Given the description of an element on the screen output the (x, y) to click on. 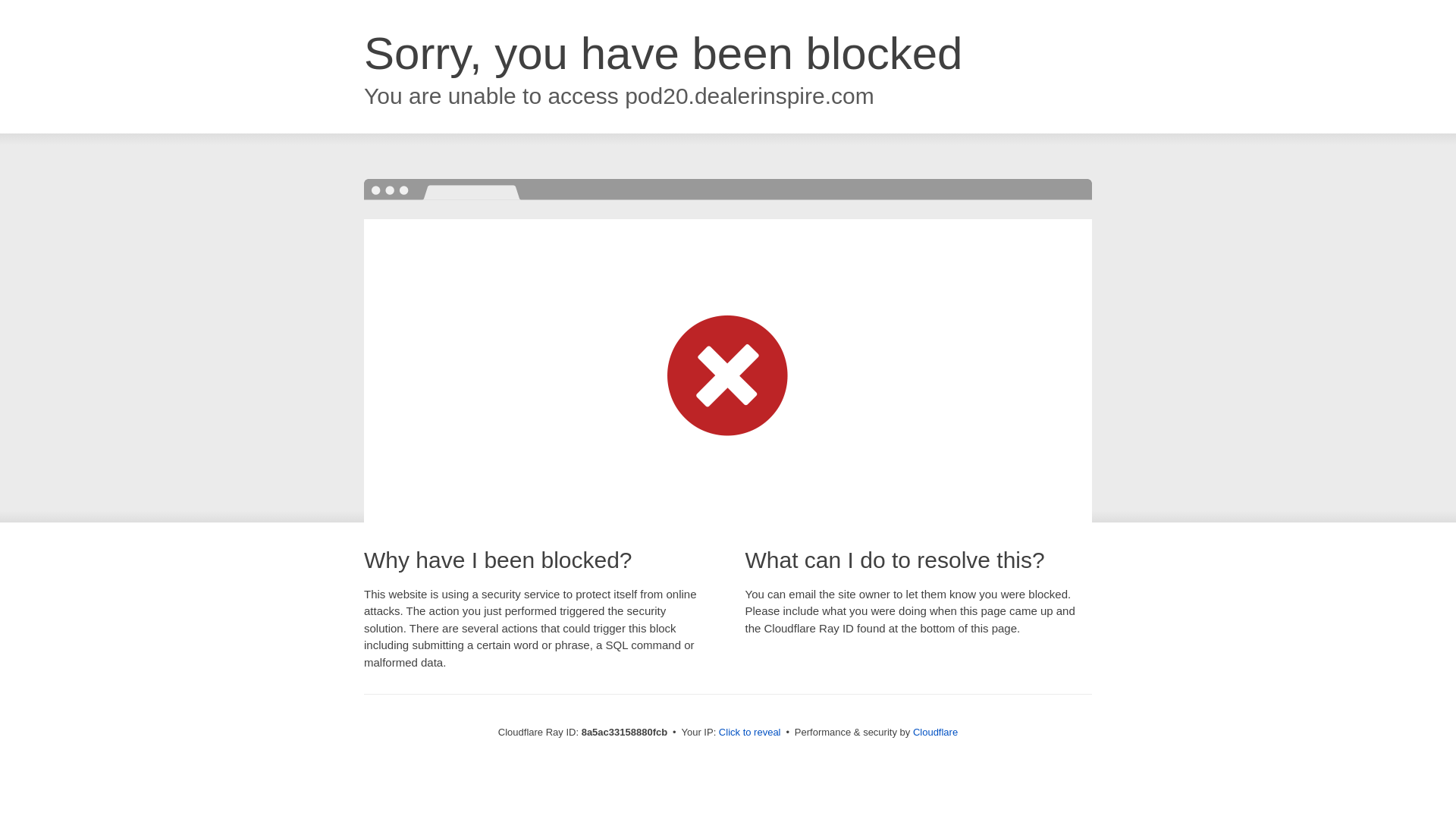
Cloudflare (935, 731)
Click to reveal (749, 732)
